Given the description of an element on the screen output the (x, y) to click on. 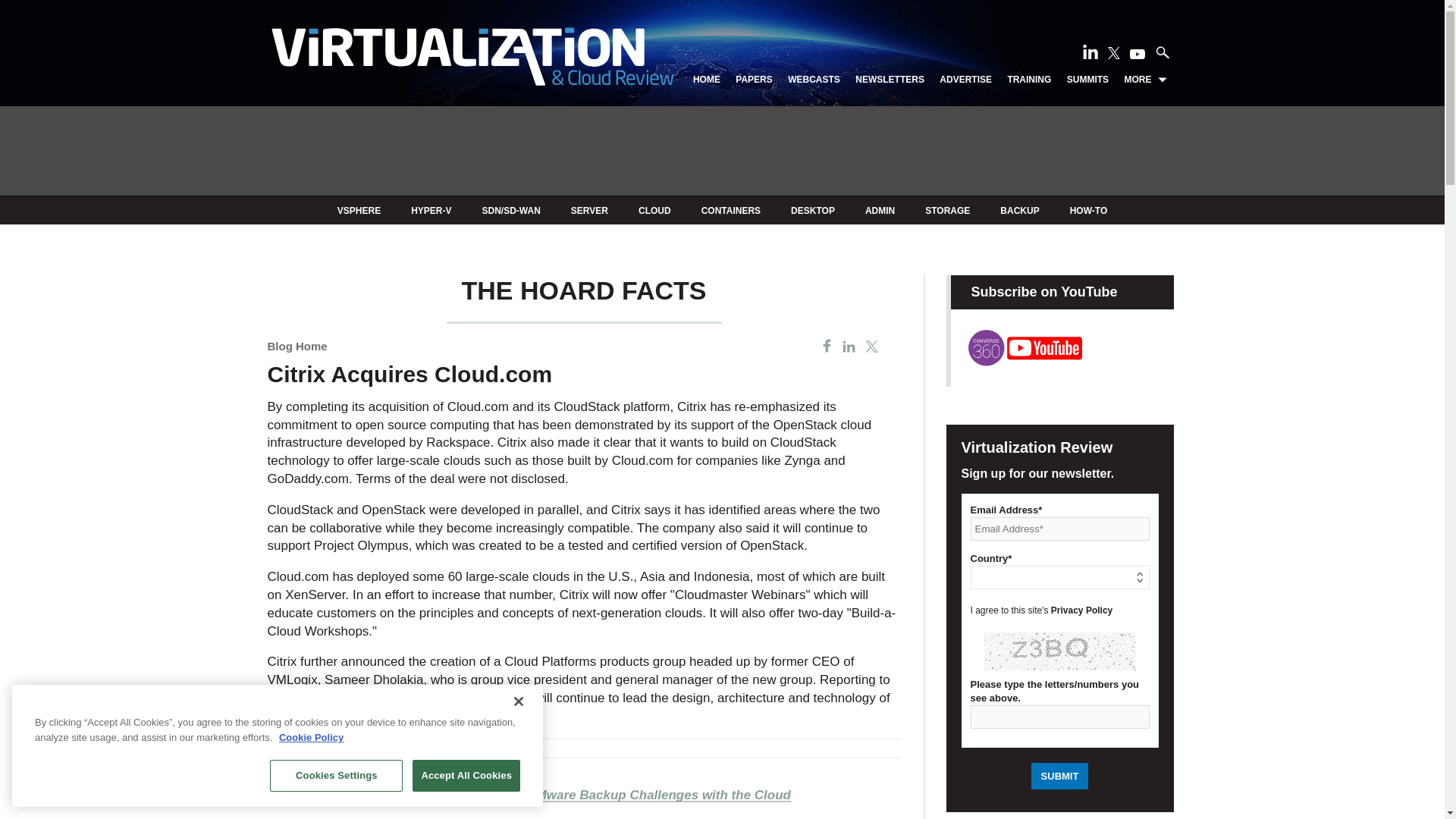
SERVER (589, 210)
TRAINING (1029, 79)
HYPER-V (430, 210)
ADVERTISE (965, 79)
WEBCASTS (813, 79)
MORE (1145, 79)
VSPHERE (358, 210)
3rd party ad content (721, 151)
SUMMITS (1087, 79)
CLOUD (655, 210)
NEWSLETTERS (890, 79)
PAPERS (753, 79)
HOME (706, 79)
Submit (1059, 775)
